Given the description of an element on the screen output the (x, y) to click on. 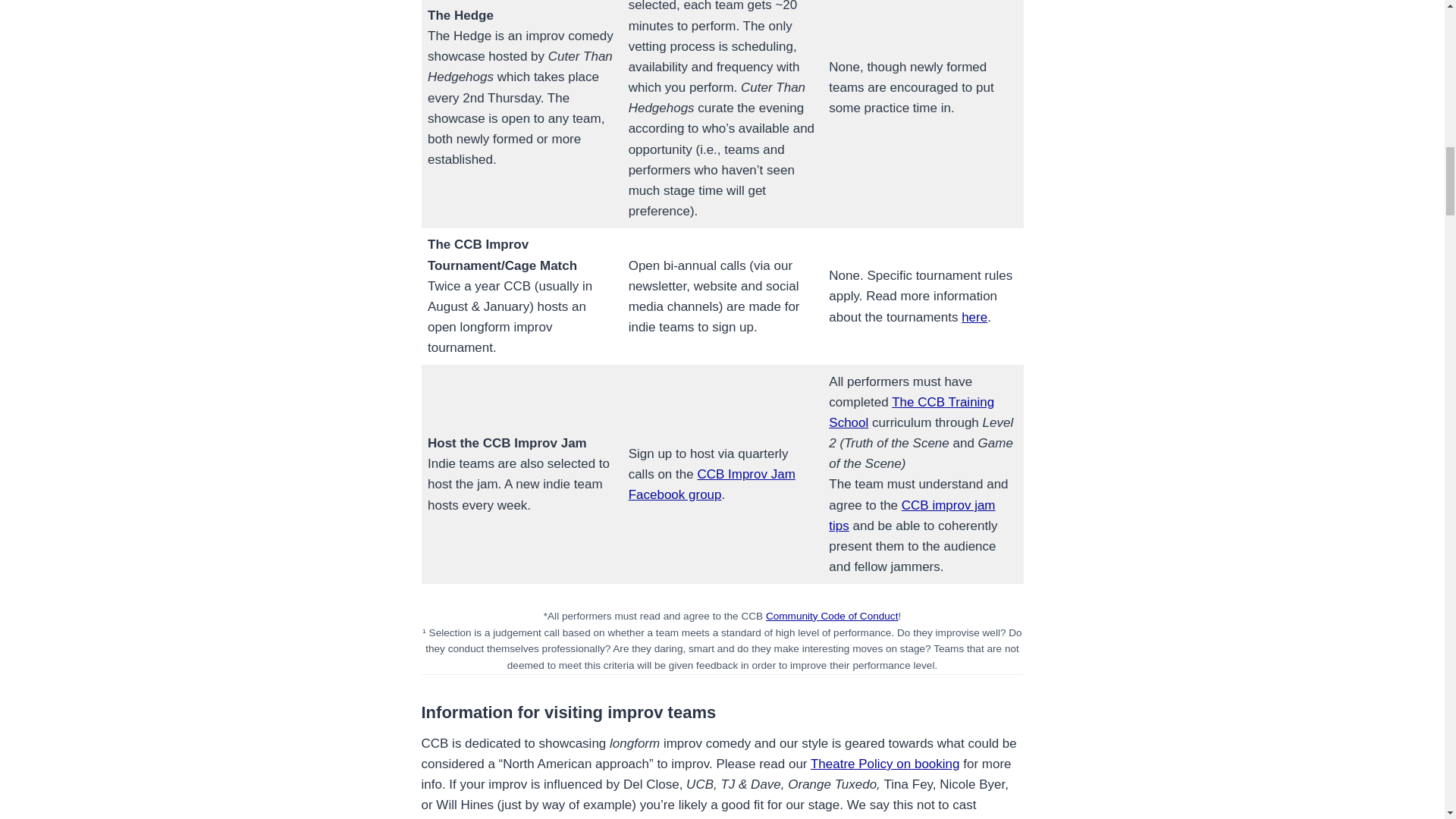
CCB improv jam tips (911, 515)
The CCB Training School (911, 411)
Community Code of Conduct (831, 615)
here (973, 317)
CCB Improv Jam Facebook group (711, 484)
Theatre Policy on booking (884, 763)
